Given the description of an element on the screen output the (x, y) to click on. 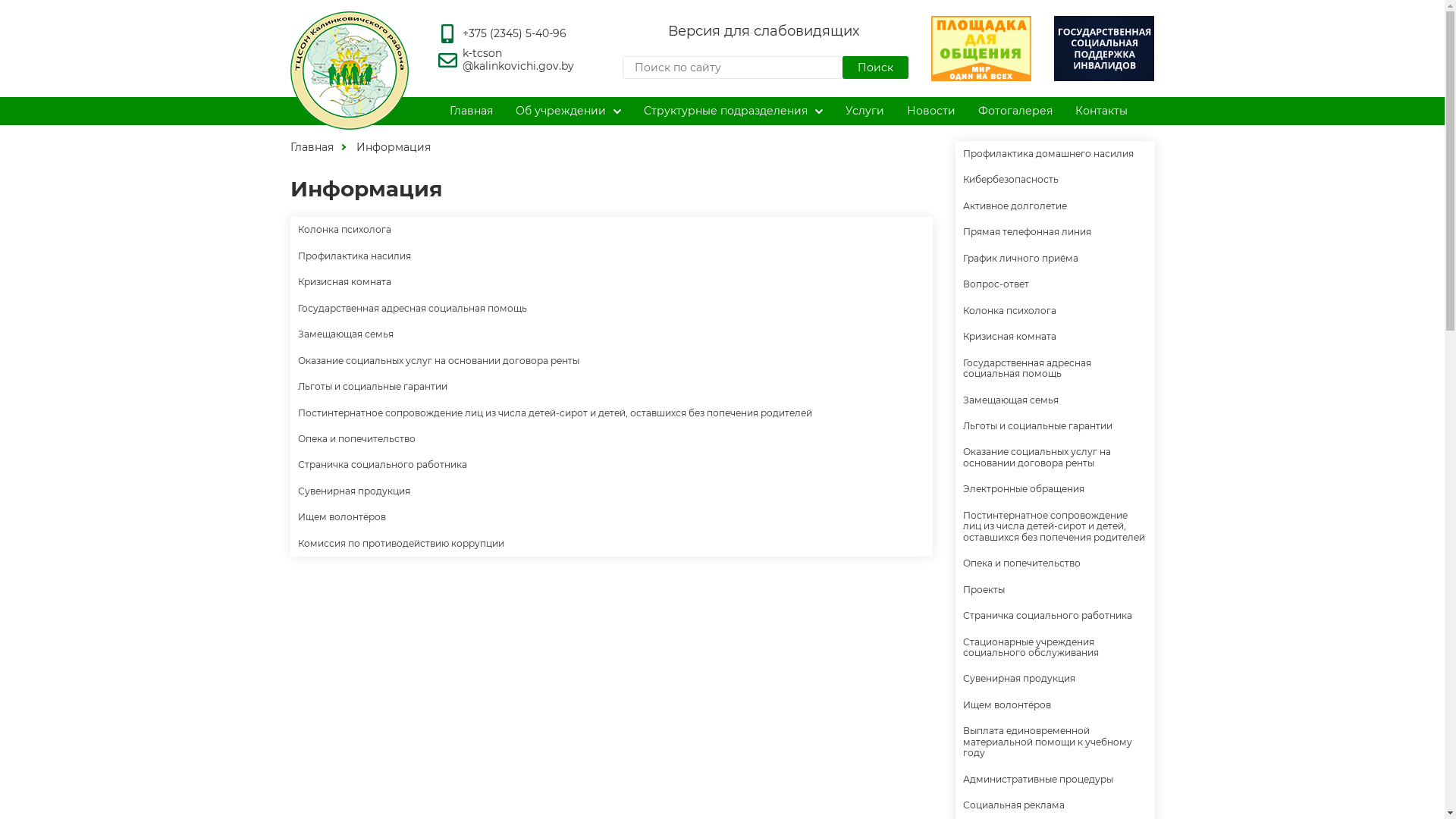
+375 (2345) 5-40-96 Element type: text (514, 33)
k-tcson
@kalinkovichi.gov.by Element type: text (518, 59)
9.jpg Element type: hover (1104, 48)
